Given the description of an element on the screen output the (x, y) to click on. 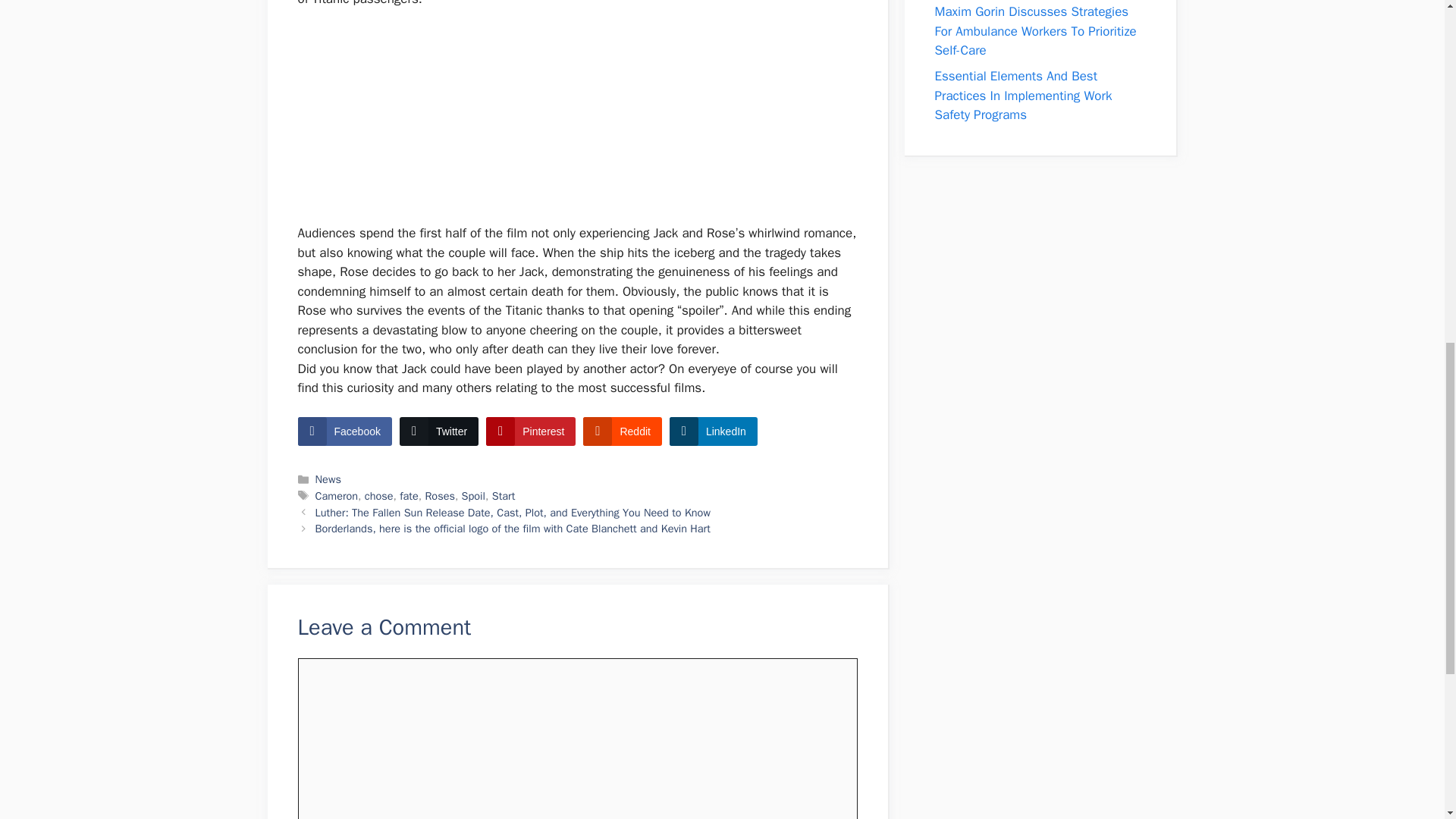
Twitter (438, 430)
LinkedIn (713, 430)
Cameron (336, 495)
Reddit (622, 430)
Roses (439, 495)
Pinterest (530, 430)
Start (503, 495)
Spoil (472, 495)
chose (379, 495)
fate (408, 495)
Facebook (344, 430)
News (327, 479)
